Given the description of an element on the screen output the (x, y) to click on. 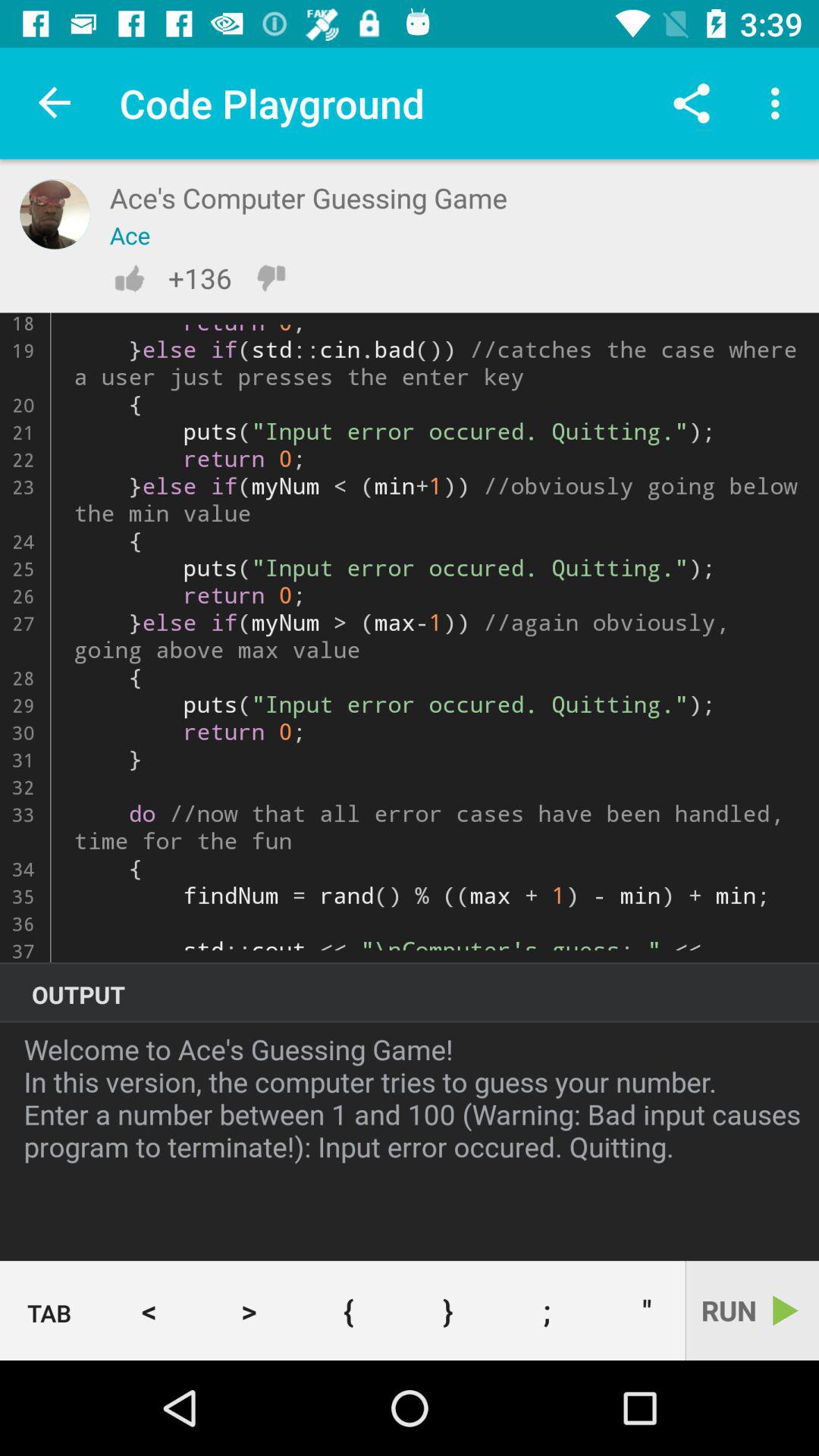
tap the button to the left of the < item (49, 1311)
